Given the description of an element on the screen output the (x, y) to click on. 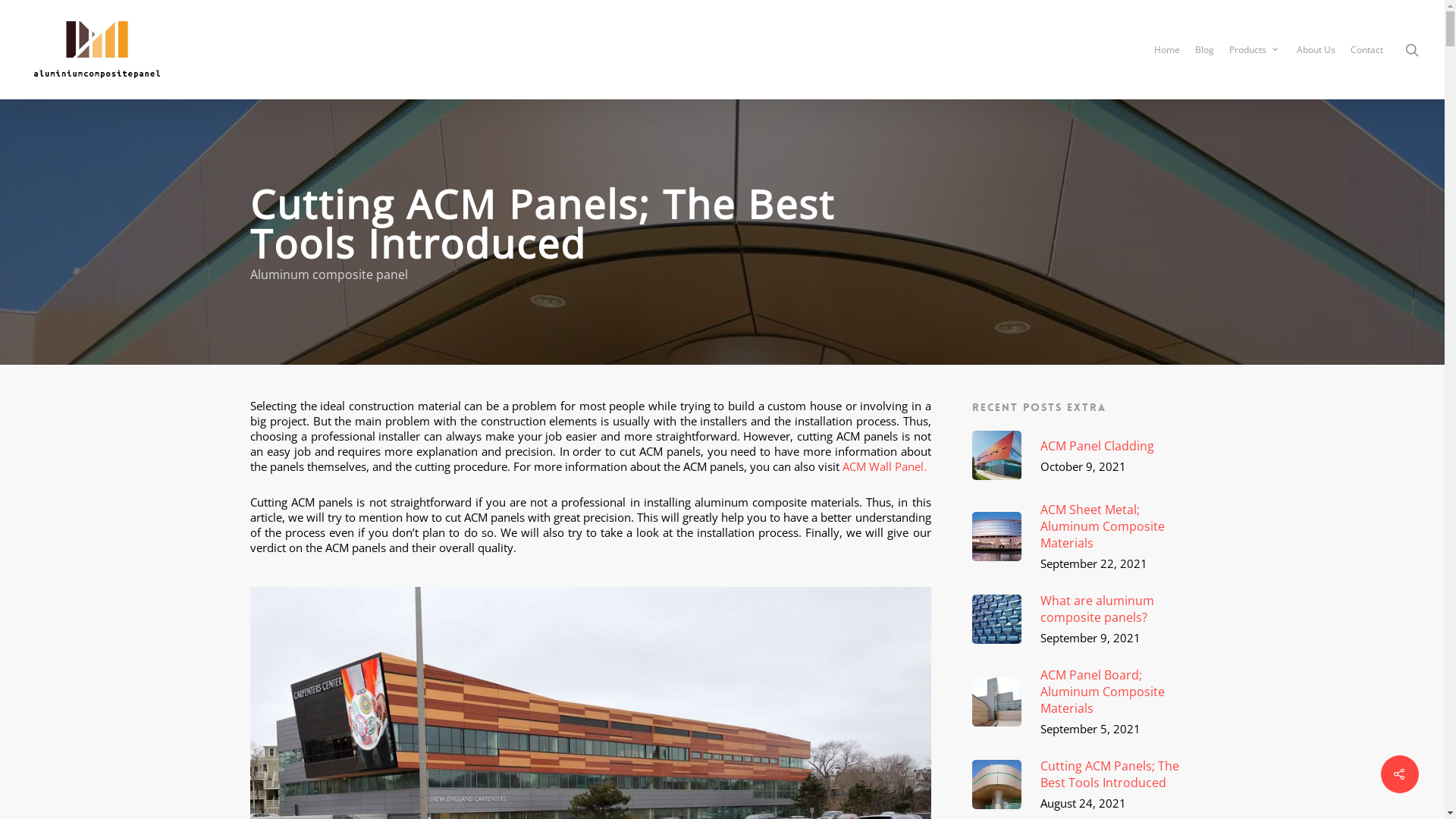
ACM Panel Cladding
October 9, 2021 Element type: text (1083, 455)
Products Element type: text (1255, 49)
What are aluminum composite panels?
September 9, 2021 Element type: text (1083, 618)
Blog Element type: text (1204, 49)
Aluminum composite panel Element type: text (328, 274)
About Us Element type: text (1316, 49)
ACM Wall Panel. Element type: text (884, 465)
Home Element type: text (1166, 49)
Contact Element type: text (1366, 49)
